Given the description of an element on the screen output the (x, y) to click on. 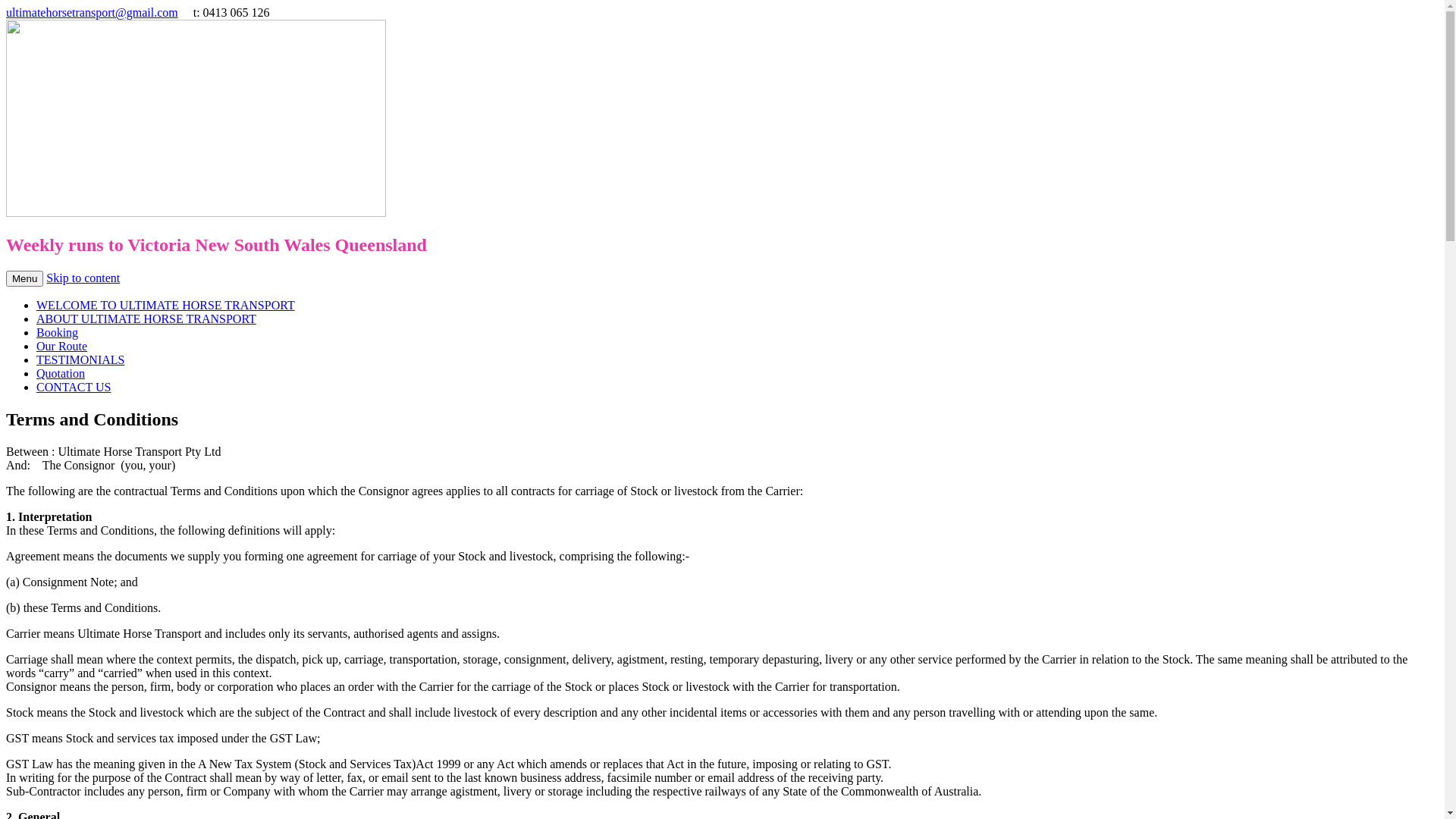
TESTIMONIALS Element type: text (80, 359)
ABOUT ULTIMATE HORSE TRANSPORT Element type: text (146, 318)
Our Route Element type: text (61, 345)
Booking Element type: text (57, 332)
Ultimate Horse Transport Element type: hover (195, 212)
Quotation Element type: text (60, 373)
Skip to content Element type: text (82, 277)
Menu Element type: text (24, 278)
CONTACT US Element type: text (73, 386)
ultimatehorsetransport@gmail.com Element type: text (92, 12)
WELCOME TO ULTIMATE HORSE TRANSPORT Element type: text (165, 304)
